Given the description of an element on the screen output the (x, y) to click on. 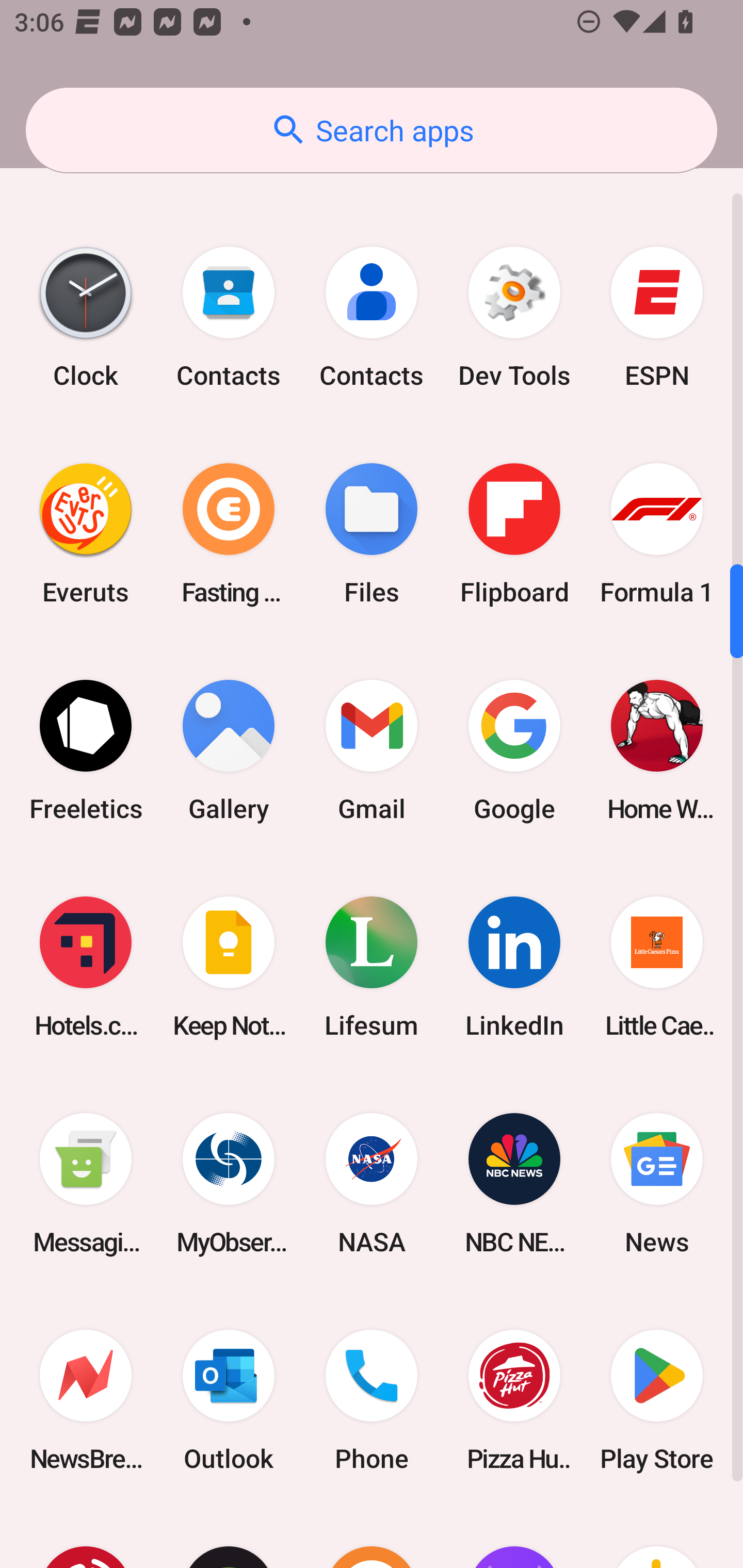
  Search apps (371, 130)
Clock (85, 316)
Contacts (228, 316)
Contacts (371, 316)
Dev Tools (514, 316)
ESPN (656, 316)
Everuts (85, 533)
Fasting Coach (228, 533)
Files (371, 533)
Flipboard (514, 533)
Formula 1 (656, 533)
Freeletics (85, 750)
Gallery (228, 750)
Gmail (371, 750)
Google (514, 750)
Home Workout (656, 750)
Hotels.com (85, 967)
Keep Notes (228, 967)
Lifesum (371, 967)
LinkedIn (514, 967)
Little Caesars Pizza (656, 967)
Messaging (85, 1183)
MyObservatory (228, 1183)
NASA (371, 1183)
NBC NEWS (514, 1183)
News (656, 1183)
NewsBreak (85, 1400)
Outlook (228, 1400)
Phone (371, 1400)
Pizza Hut HK & Macau (514, 1400)
Play Store (656, 1400)
